Given the description of an element on the screen output the (x, y) to click on. 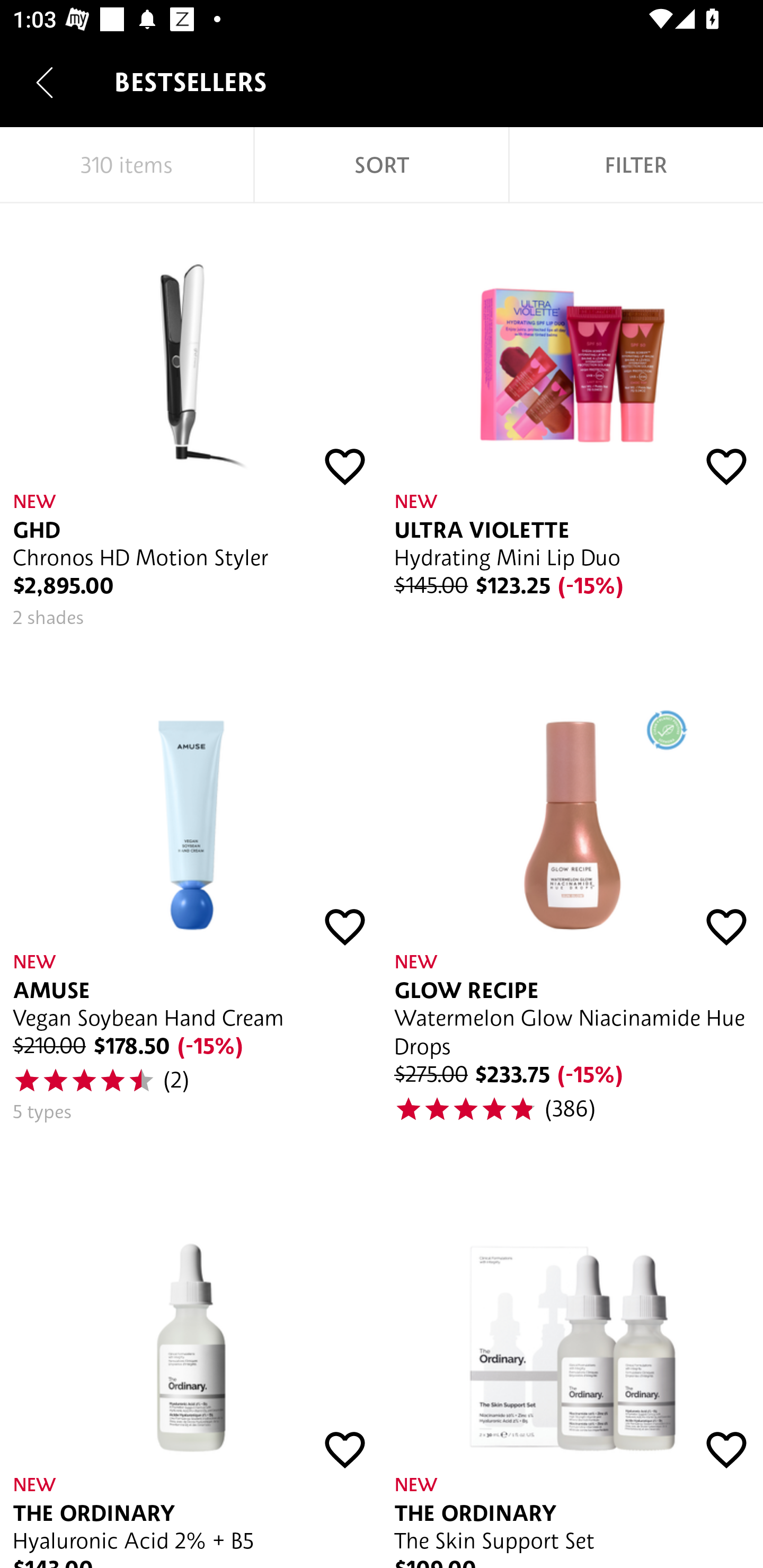
Navigate up (44, 82)
SORT (381, 165)
FILTER (636, 165)
NEW THE ORDINARY Hyaluronic Acid 2% + B5 $143.00 (190, 1366)
NEW THE ORDINARY The Skin Support Set $109.00 (572, 1366)
